Given the description of an element on the screen output the (x, y) to click on. 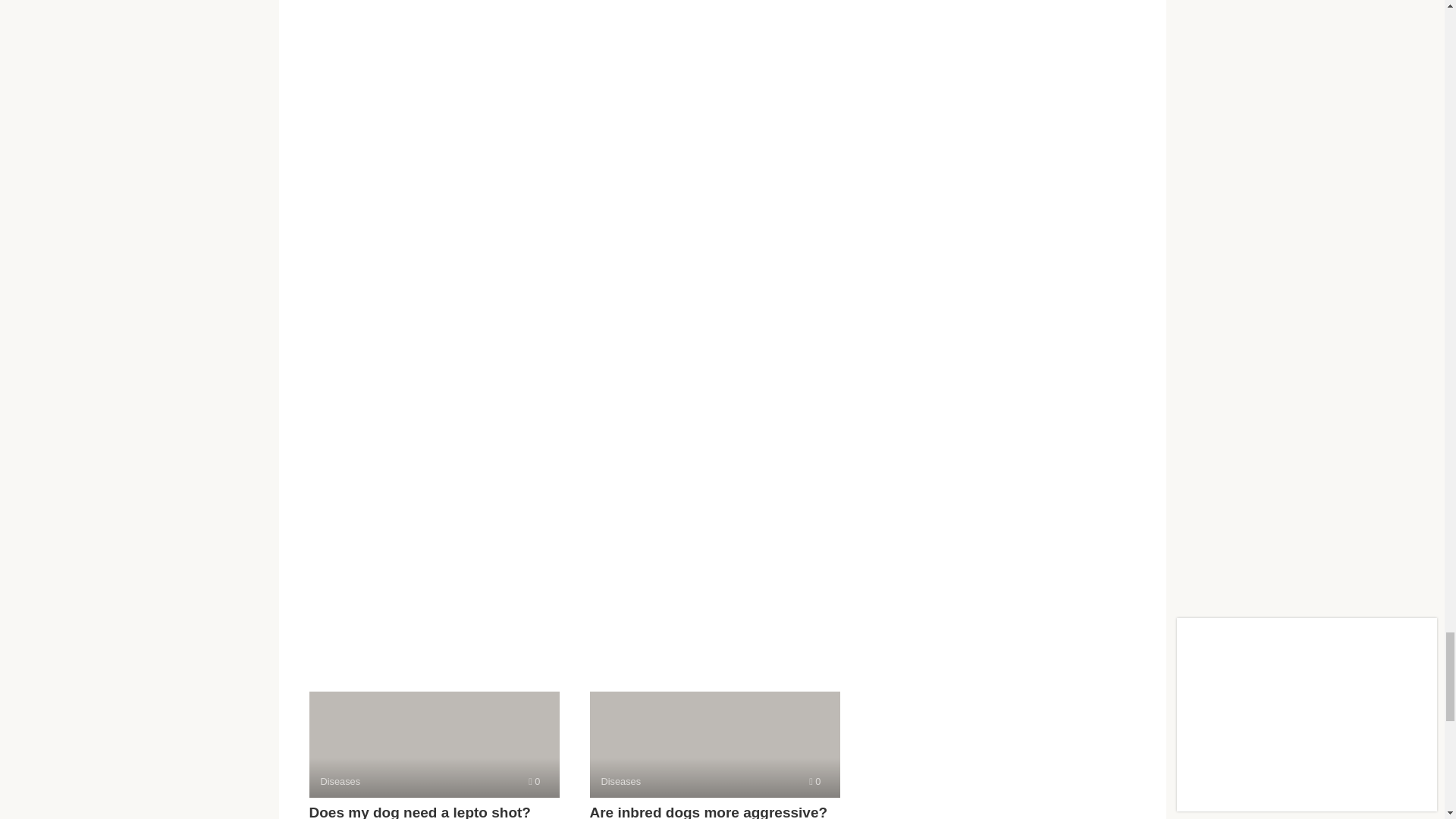
Are inbred dogs more aggressive? (708, 811)
Comments (714, 744)
Does my dog need a lepto shot? (815, 781)
Comments (419, 811)
